Given the description of an element on the screen output the (x, y) to click on. 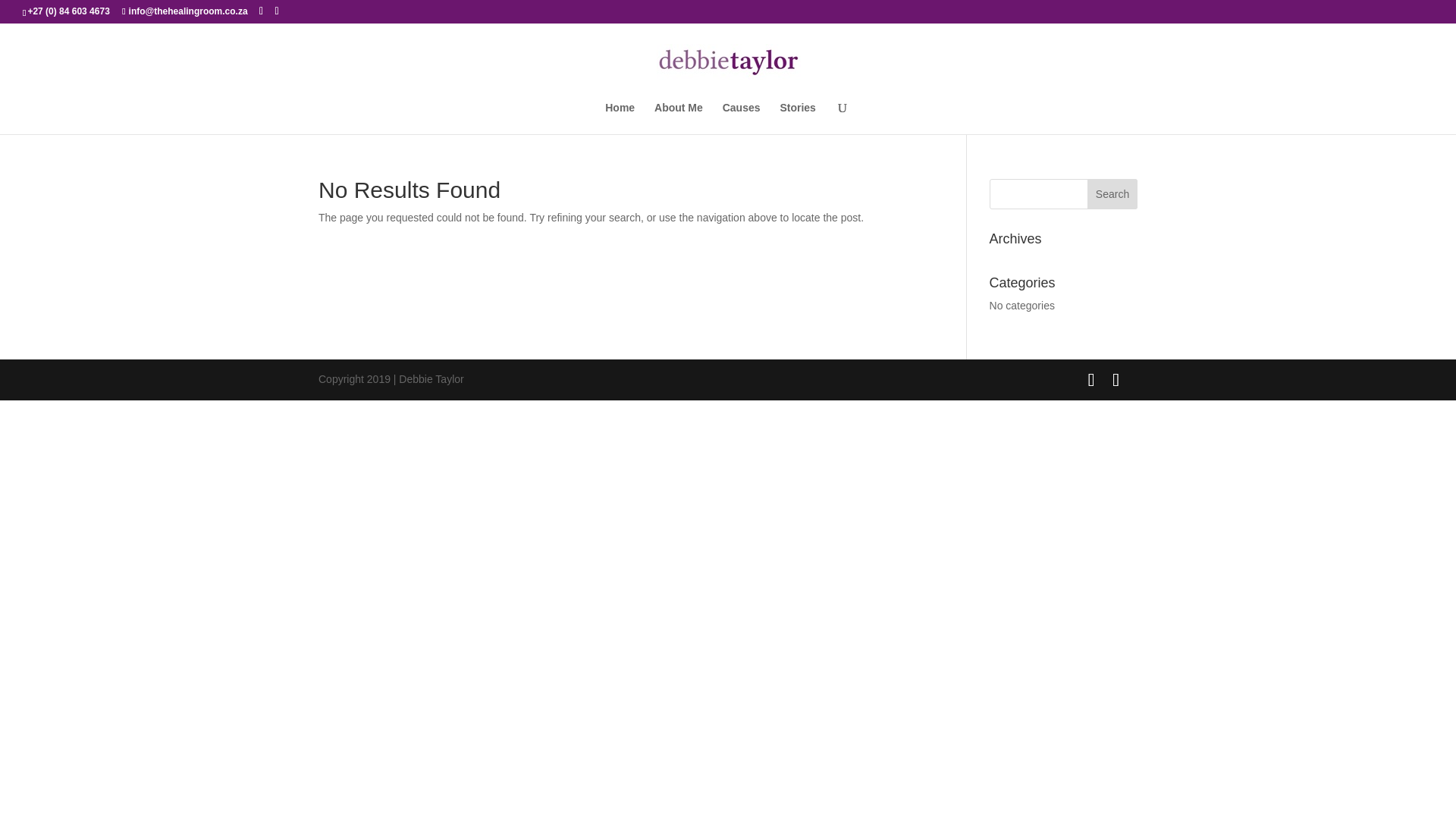
Search (1112, 194)
Search (1112, 194)
Stories (796, 118)
Causes (741, 118)
About Me (678, 118)
Home (619, 118)
